Given the description of an element on the screen output the (x, y) to click on. 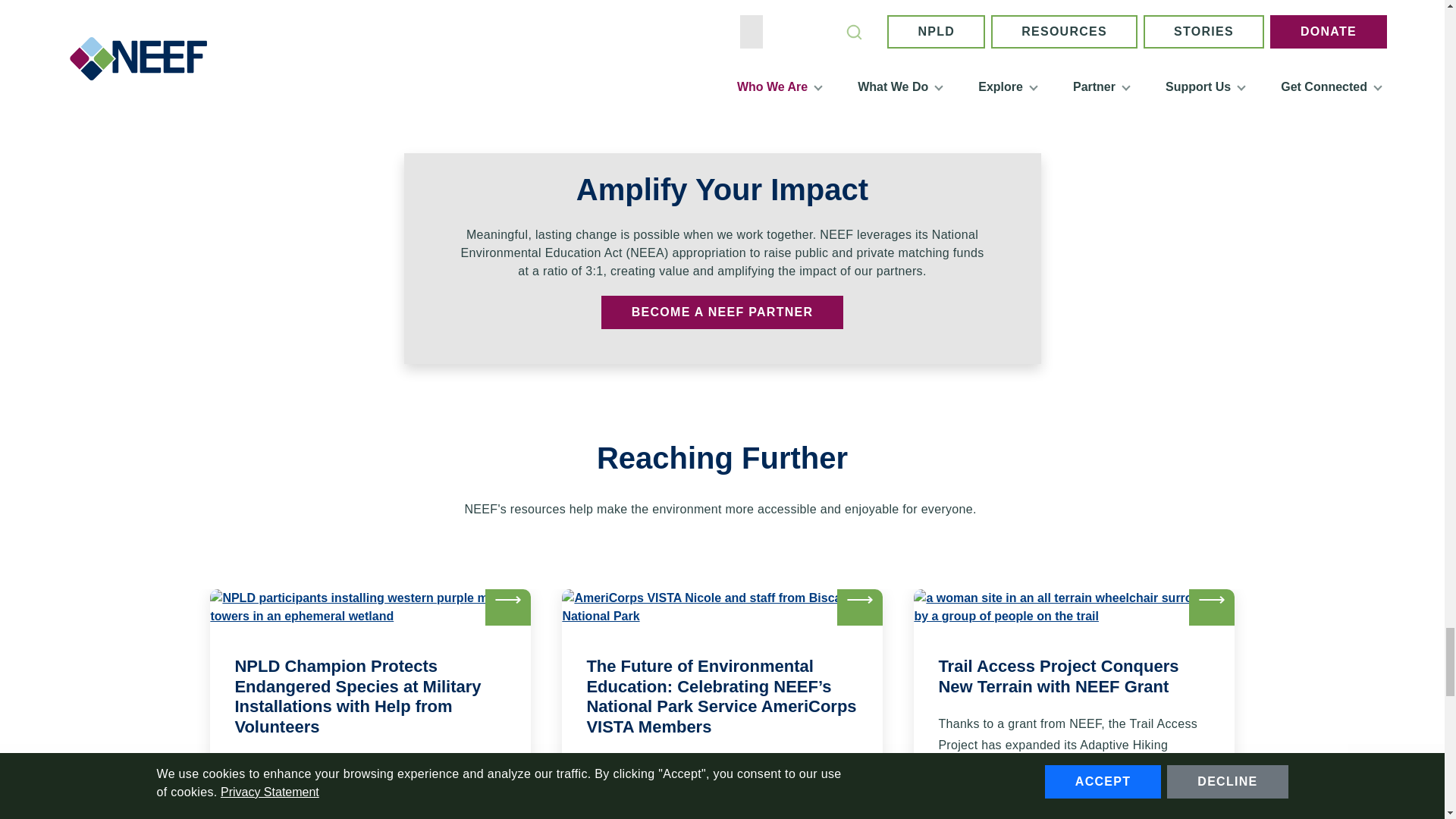
Partner with NEEF Form (722, 312)
